Given the description of an element on the screen output the (x, y) to click on. 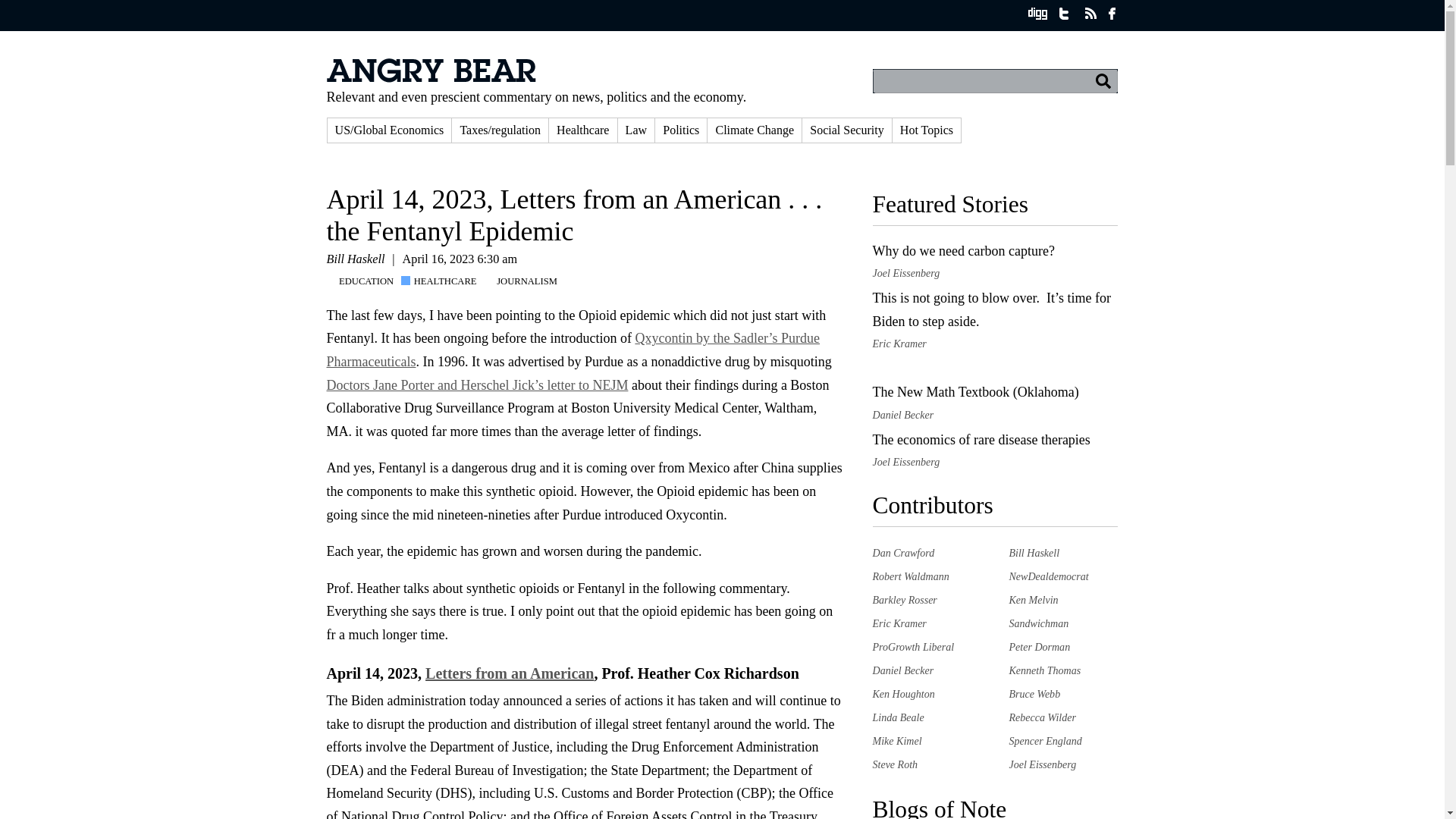
Daniel Becker (902, 670)
ProGrowth Liberal (912, 646)
Social Security (846, 129)
Hot Topics (926, 129)
Politics (680, 129)
Climate Change (754, 129)
The economics of rare disease therapies (980, 439)
HEALTHCARE (442, 281)
Law (636, 129)
Dan Crawford (903, 552)
Ken Houghton (903, 693)
Eric Kramer (899, 623)
JOURNALISM (524, 281)
Healthcare (582, 129)
EDUCATION (363, 281)
